Given the description of an element on the screen output the (x, y) to click on. 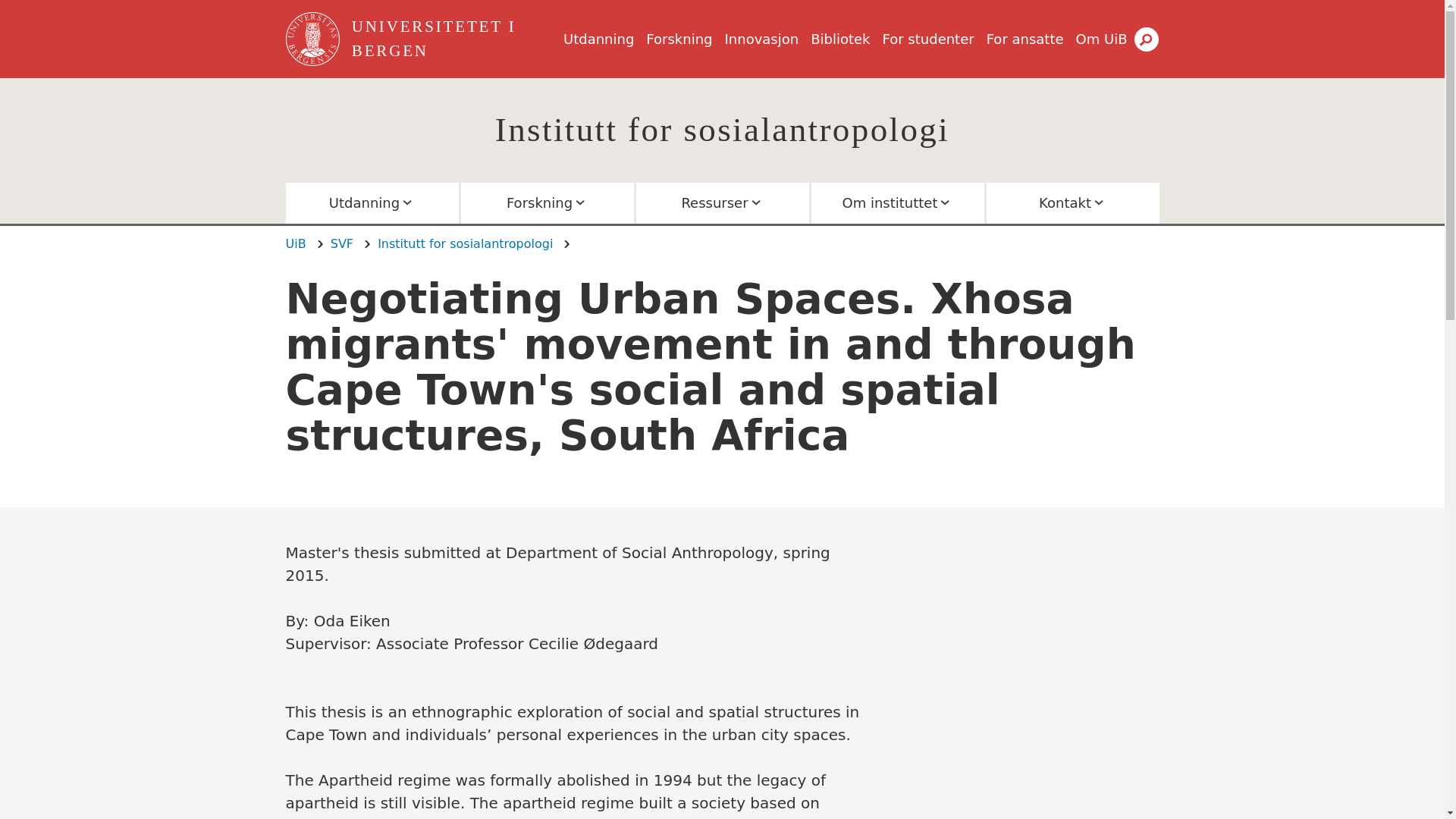
For ansatte (1025, 38)
Institutt for sosialantropologi (722, 129)
Om UiB (1100, 38)
Utdanning (598, 38)
Hjem (454, 39)
UNIVERSITETET I BERGEN (454, 39)
Hjem (313, 39)
For studenter (928, 38)
Forskning (678, 38)
